Given the description of an element on the screen output the (x, y) to click on. 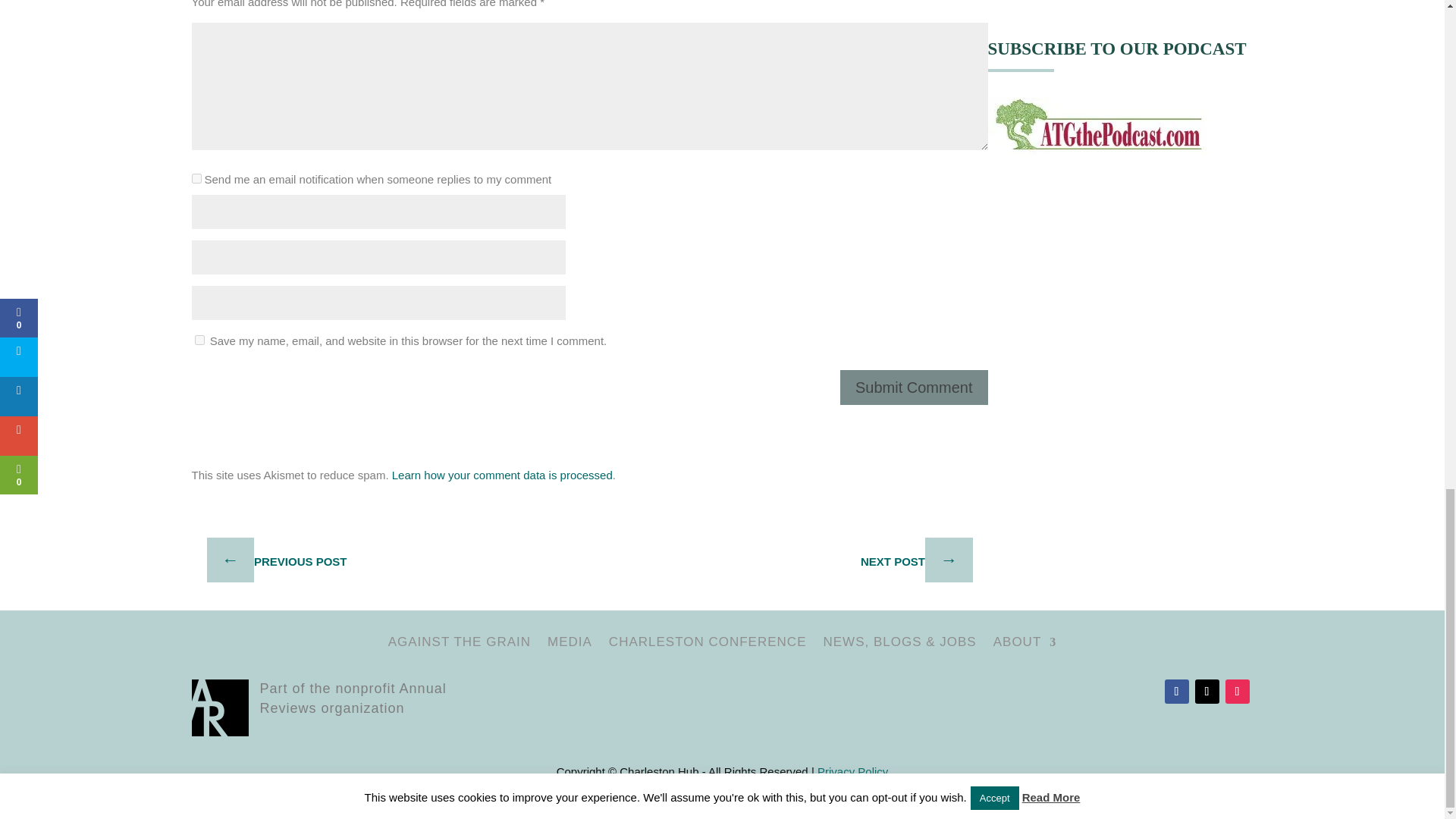
Follow on X (1207, 691)
Follow on Facebook (1176, 691)
yes (198, 339)
Follow on Instagram (1237, 691)
1 (195, 178)
